Given the description of an element on the screen output the (x, y) to click on. 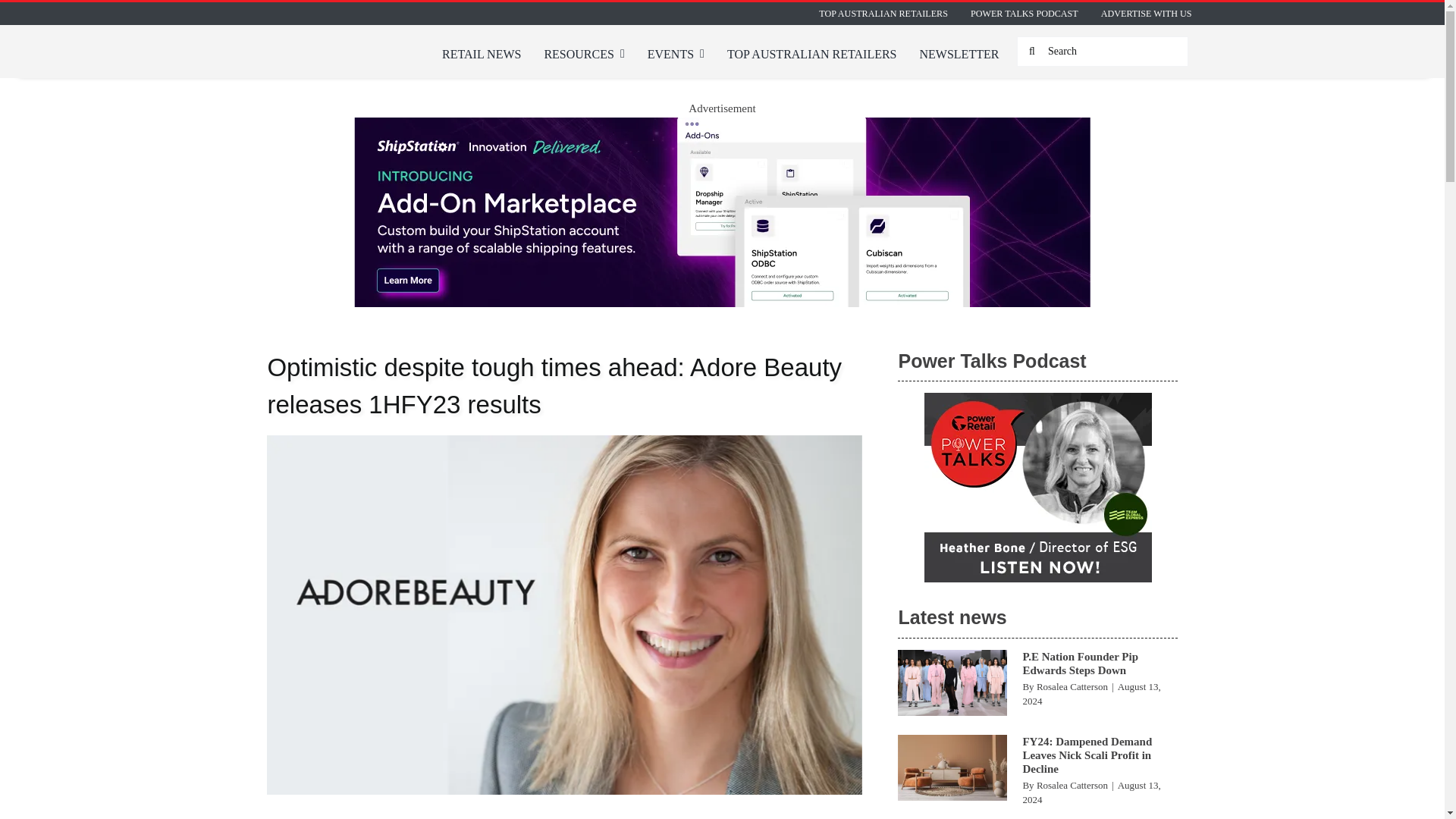
Posts by Rosalea Catterson (1072, 686)
RETAIL NEWS (481, 54)
RESOURCES (583, 54)
POWER TALKS PODCAST (1023, 13)
TOP AUSTRALIAN RETAILERS (811, 54)
Posts by Rosalea Catterson (1072, 785)
NEWSLETTER (959, 54)
EVENTS (675, 54)
ADVERTISE WITH US (1146, 13)
TOP AUSTRALIAN RETAILERS (883, 13)
